Given the description of an element on the screen output the (x, y) to click on. 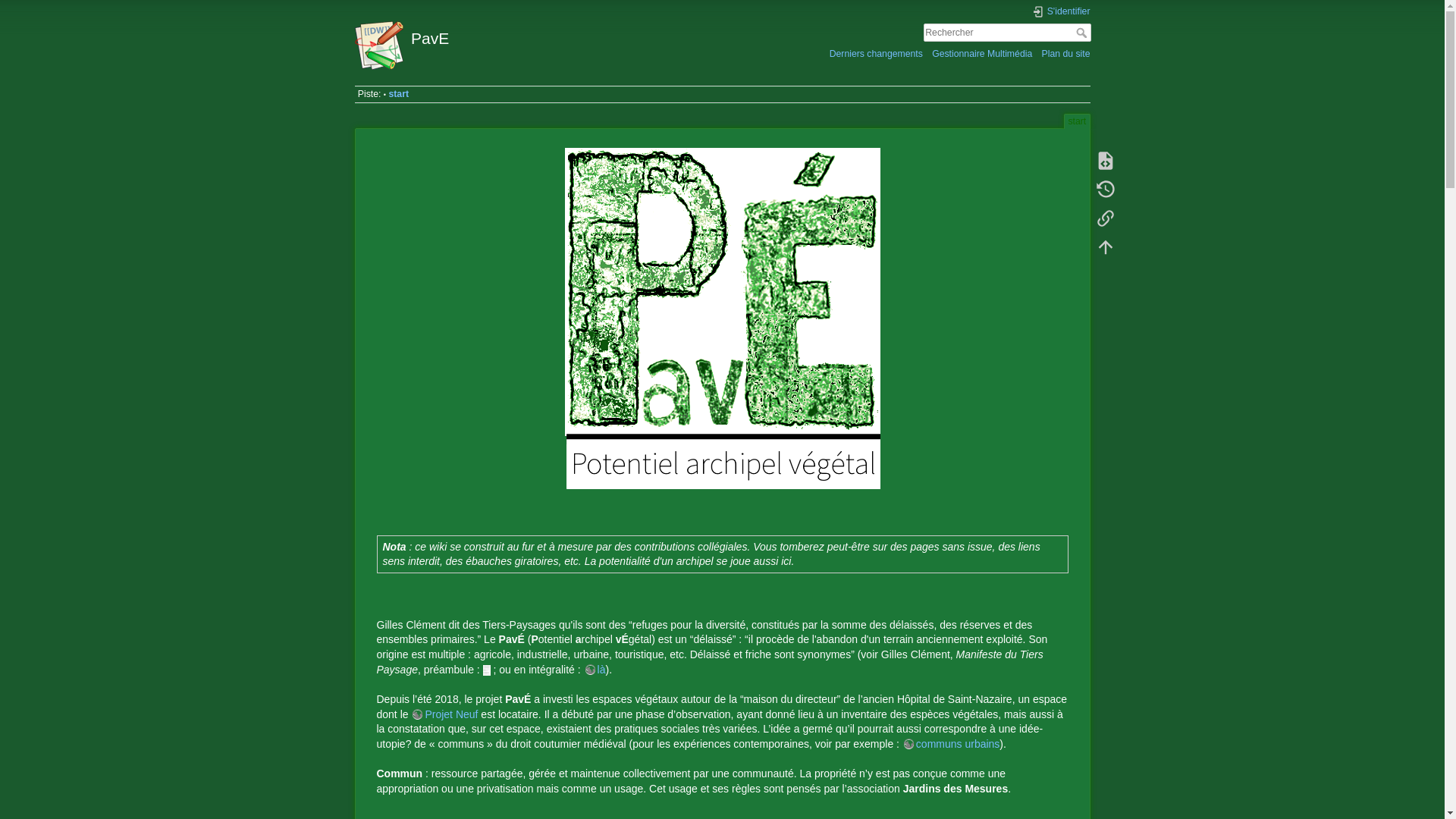
S'identifier Element type: text (1060, 11)
Liens de retour Element type: hover (1104, 217)
Rechercher Element type: text (1082, 32)
[F] Element type: hover (1007, 32)
PavE Element type: text (534, 34)
Plan du site Element type: text (1065, 53)
Projet Neuf Element type: text (444, 714)
start Element type: text (398, 93)
Afficher le texte source [v] Element type: hover (1104, 160)
communs urbains Element type: text (951, 743)
Derniers changements Element type: text (875, 53)
presentation:clement.jpg Element type: hover (486, 669)
Haut de page [t] Element type: hover (1104, 246)
